Given the description of an element on the screen output the (x, y) to click on. 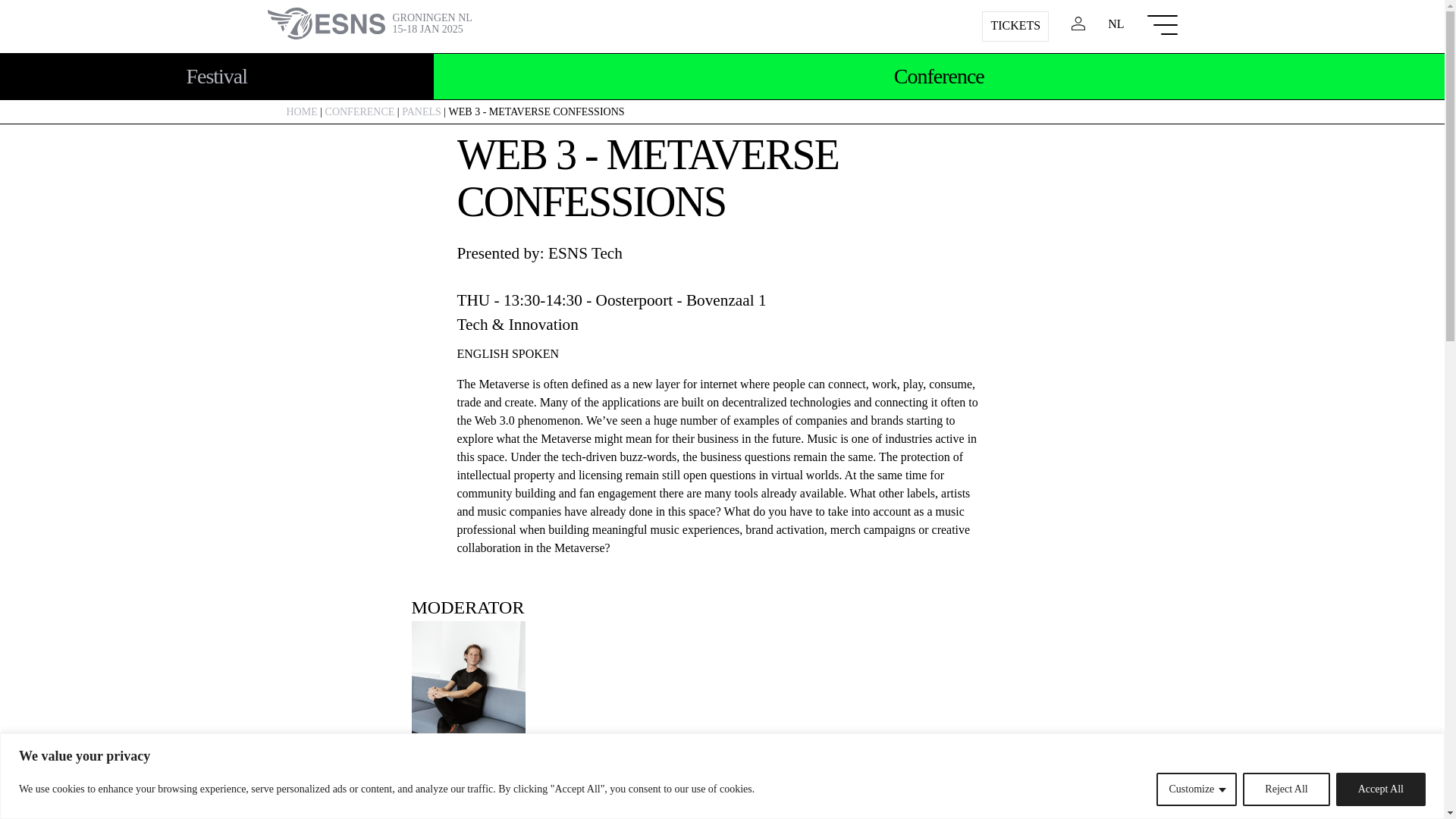
PANELS (562, 709)
Accept All (421, 111)
Reject All (1380, 788)
CONFERENCE (1286, 788)
HOME (359, 111)
Customize (301, 111)
TICKETS (1196, 788)
Festival (1014, 26)
